Given the description of an element on the screen output the (x, y) to click on. 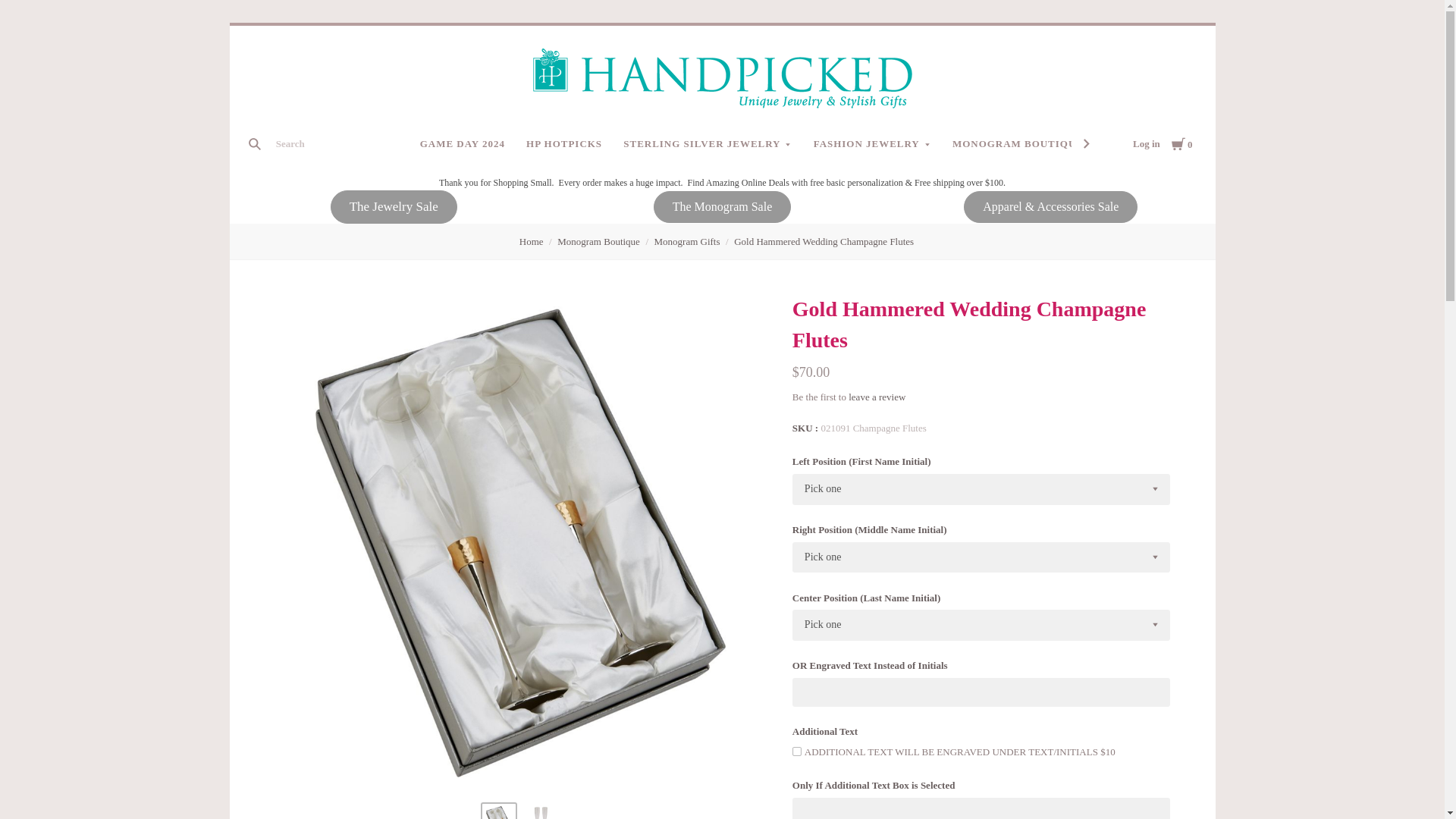
HP HOTPICKS (564, 143)
Gold Hammered Wedding Champagne Flutes (498, 812)
STERLING SILVER JEWELRY (707, 143)
MONOGRAM BOUTIQUE (1023, 143)
FASHION JEWELRY (872, 143)
GAME DAY 2024 (462, 143)
Gold Hammered Wedding Champagne Flutes (540, 812)
